Given the description of an element on the screen output the (x, y) to click on. 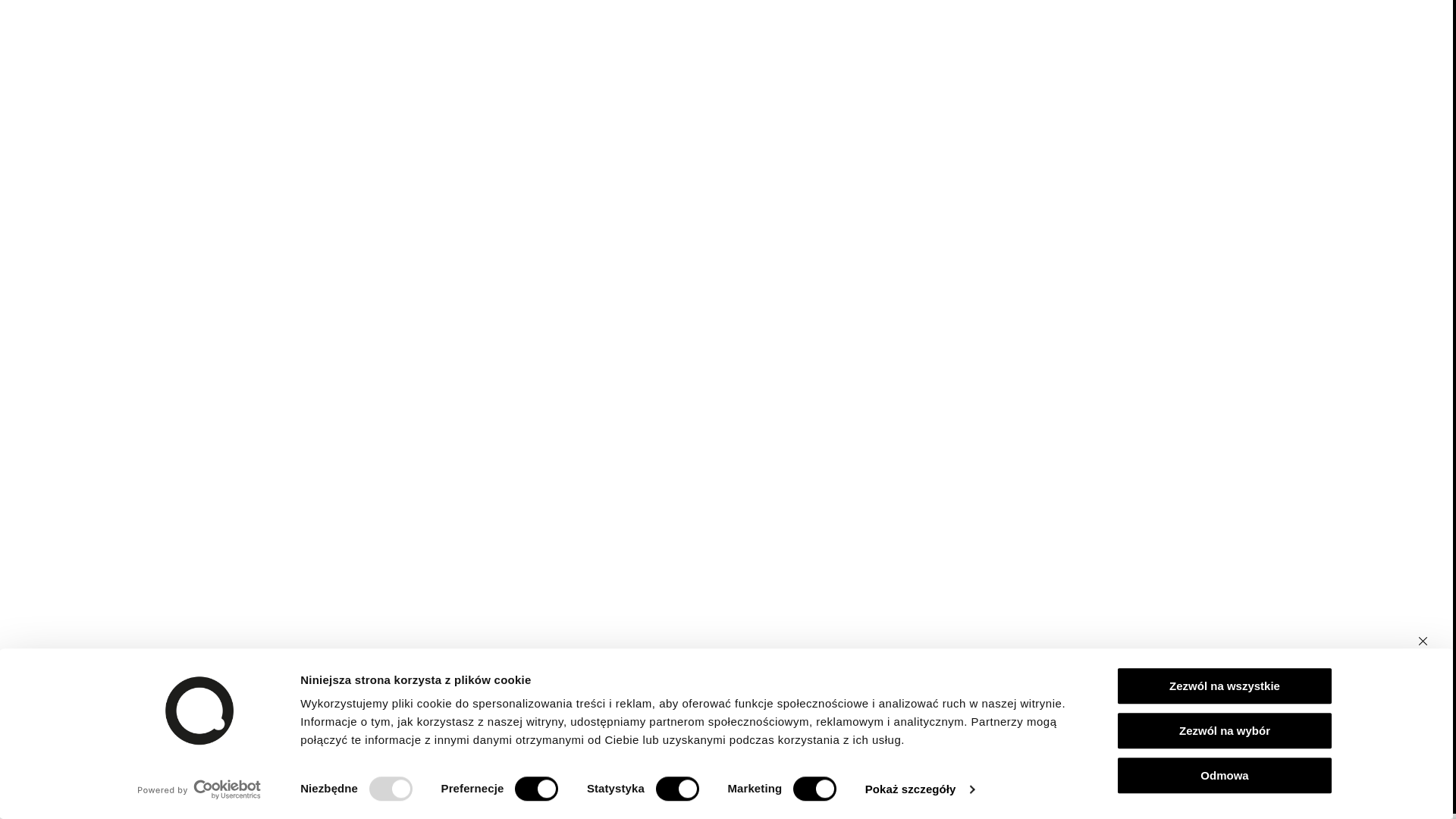
Clothes (543, 51)
Odmowa (1224, 774)
